Given the description of an element on the screen output the (x, y) to click on. 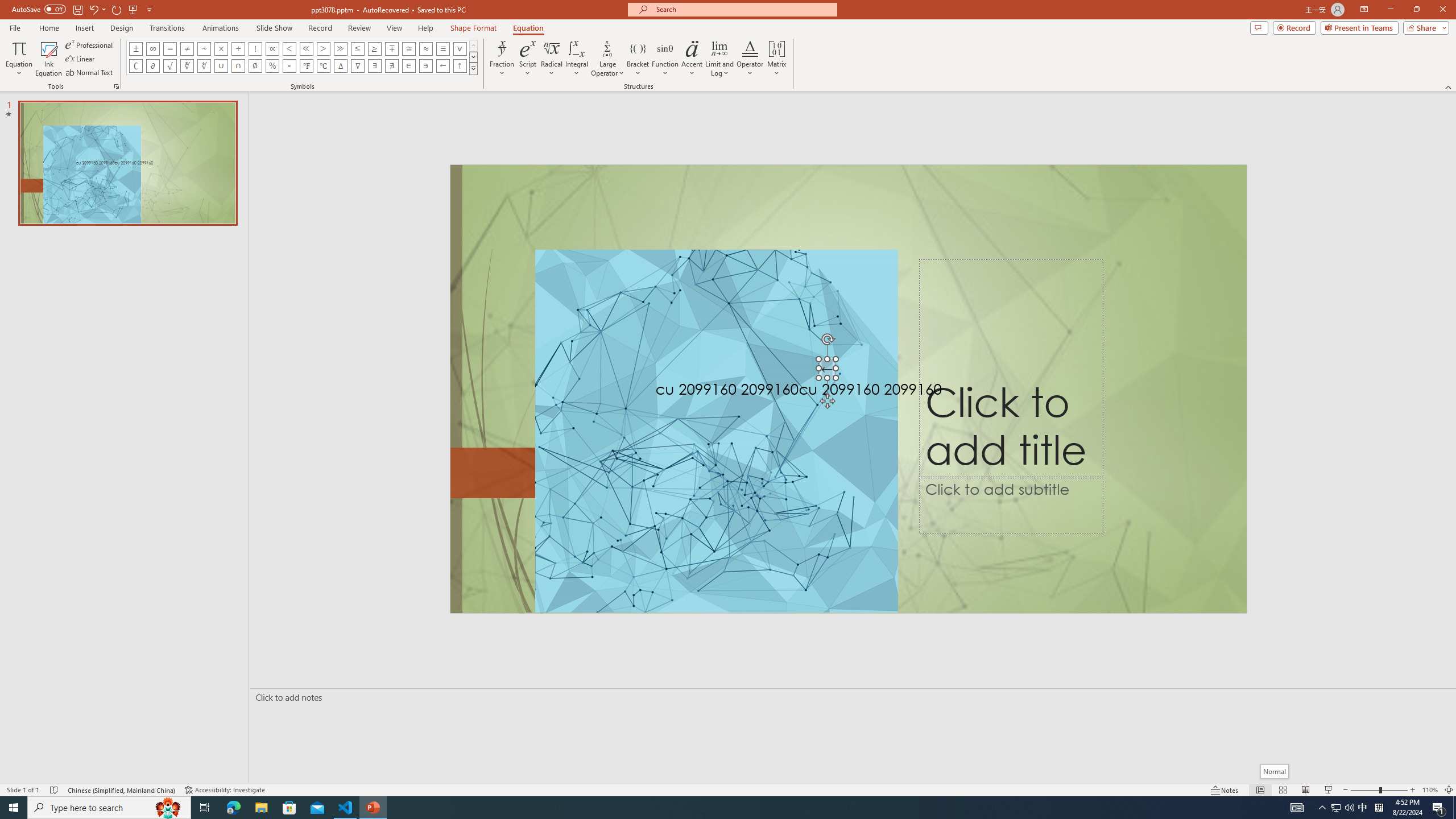
Equation Symbol Approximately (203, 48)
Equation Symbol Degrees Celsius (322, 65)
Equation Symbol Percentage (272, 65)
Equation Symbol Nabla (357, 65)
Normal Text (90, 72)
Large Operator (607, 58)
Integral (576, 58)
